Given the description of an element on the screen output the (x, y) to click on. 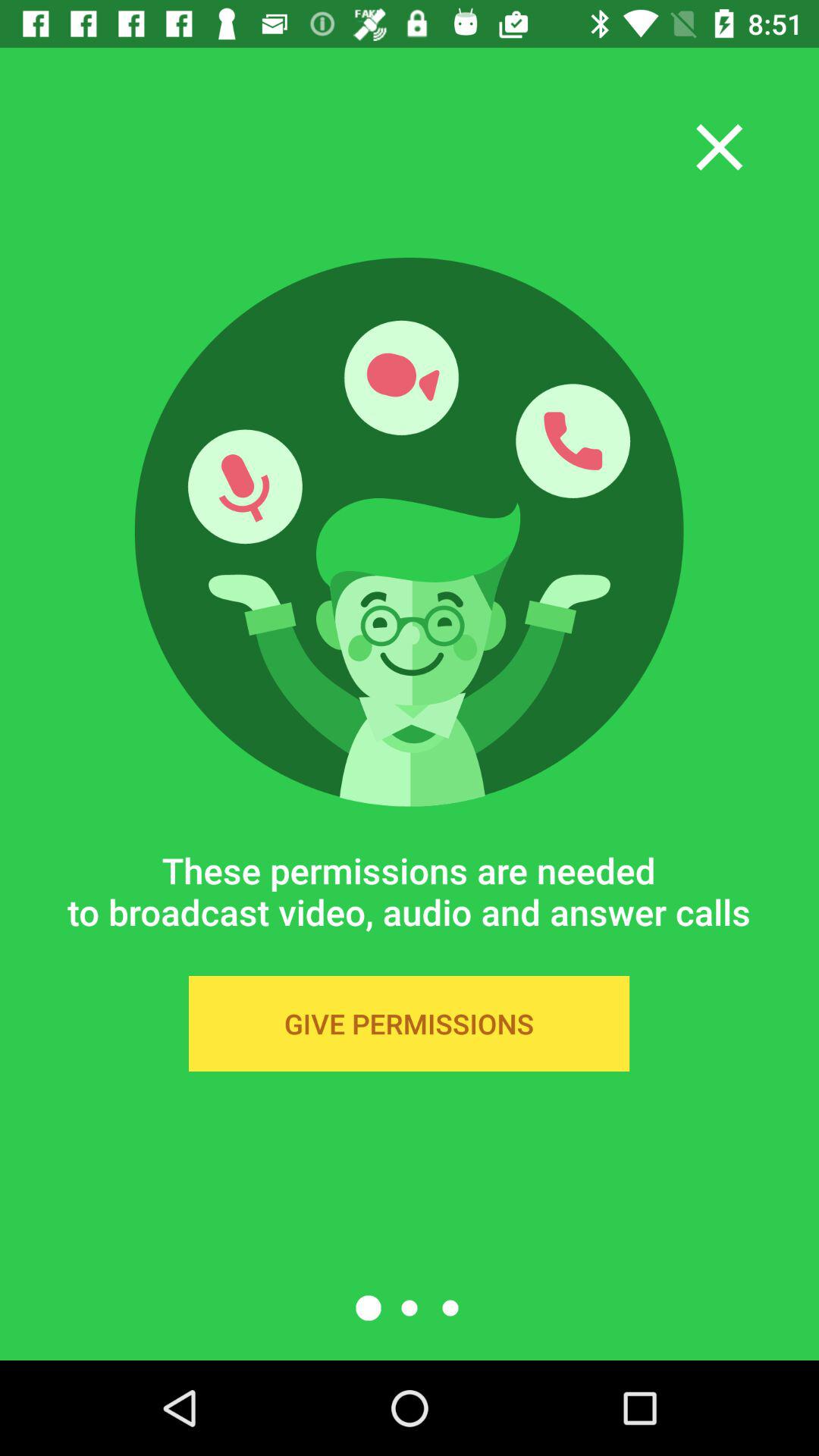
open the item below the these permissions are icon (408, 1023)
